Given the description of an element on the screen output the (x, y) to click on. 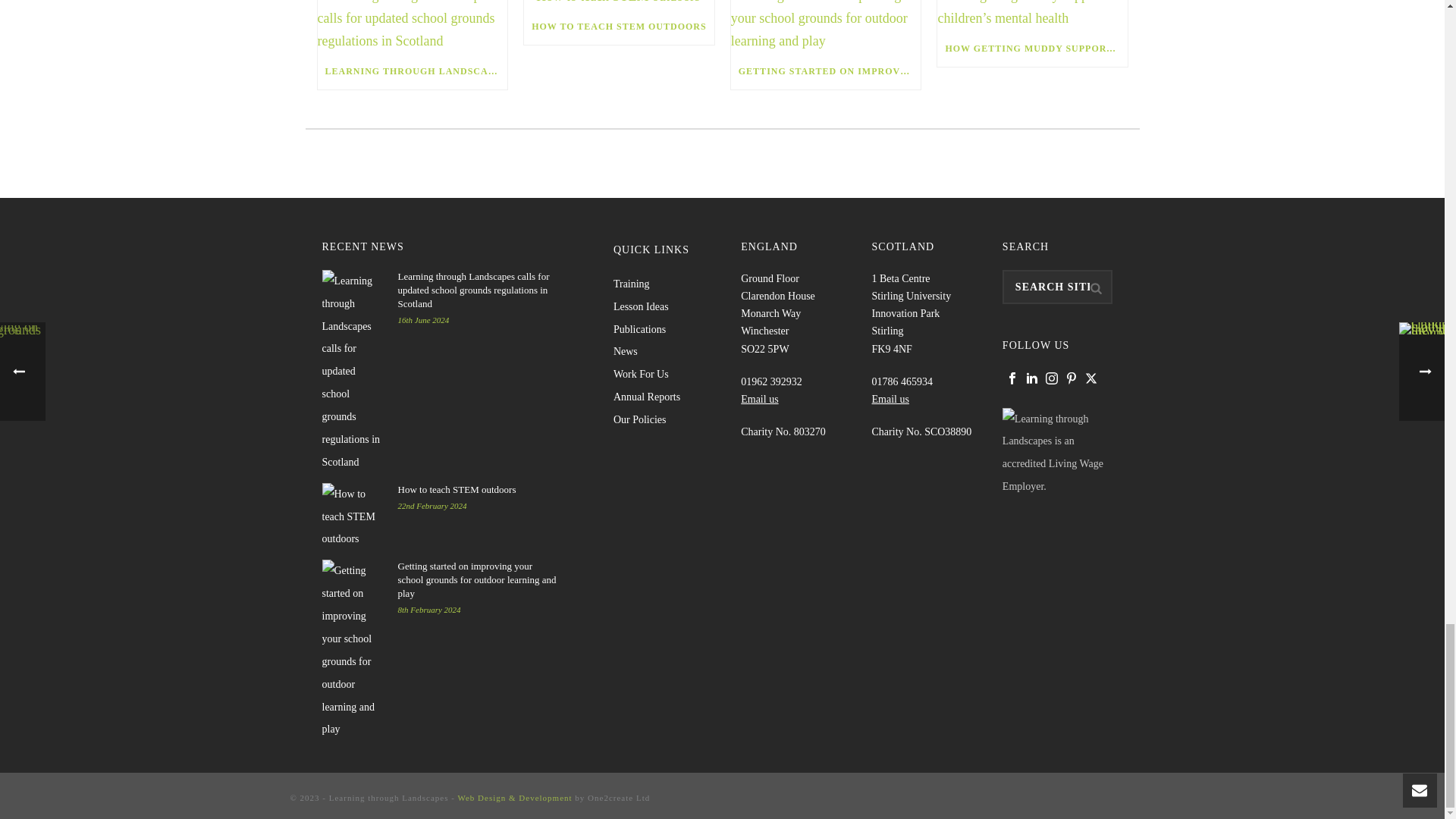
How to teach STEM outdoors (619, 4)
